Given the description of an element on the screen output the (x, y) to click on. 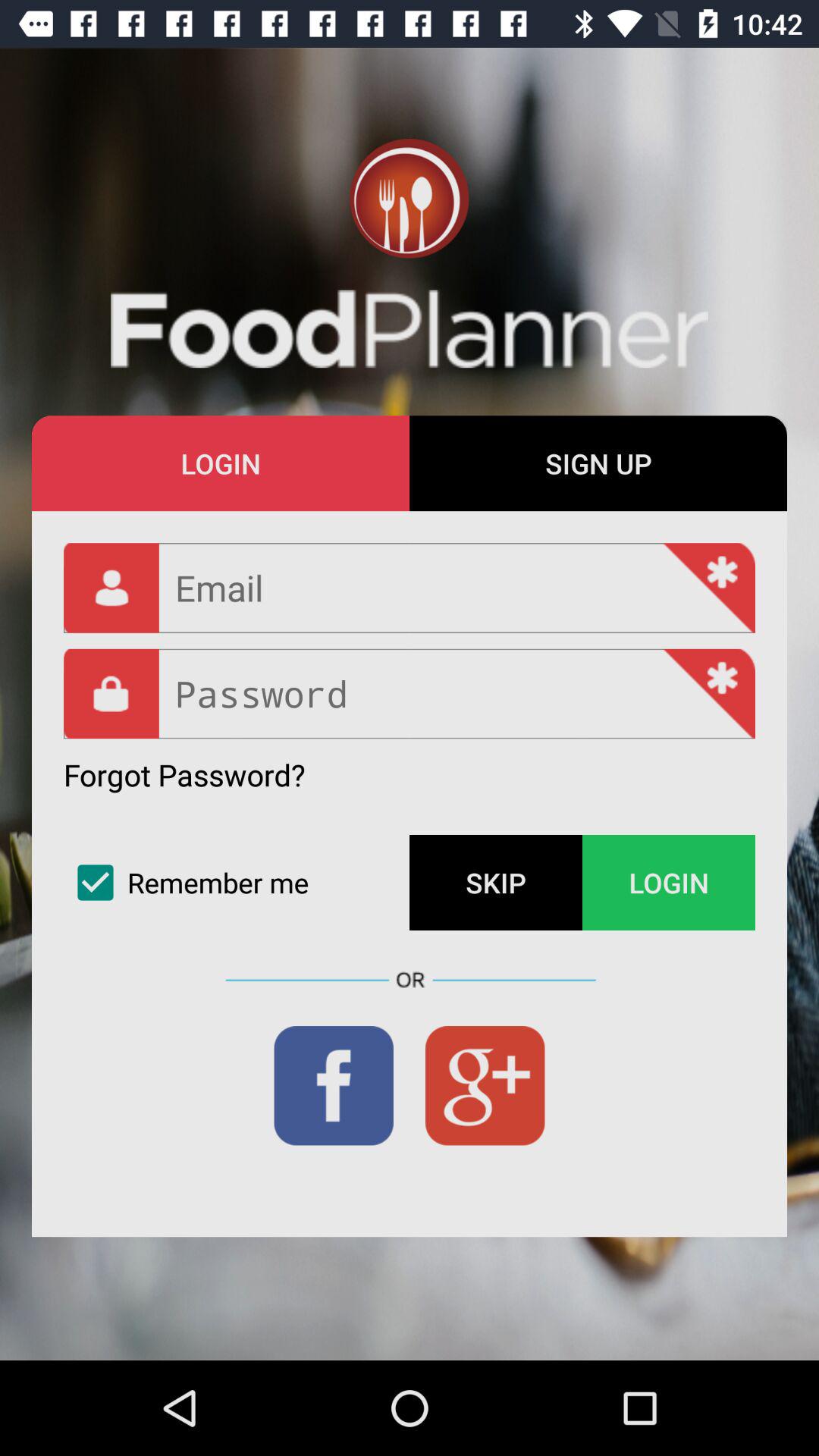
turn on the skip item (495, 882)
